Given the description of an element on the screen output the (x, y) to click on. 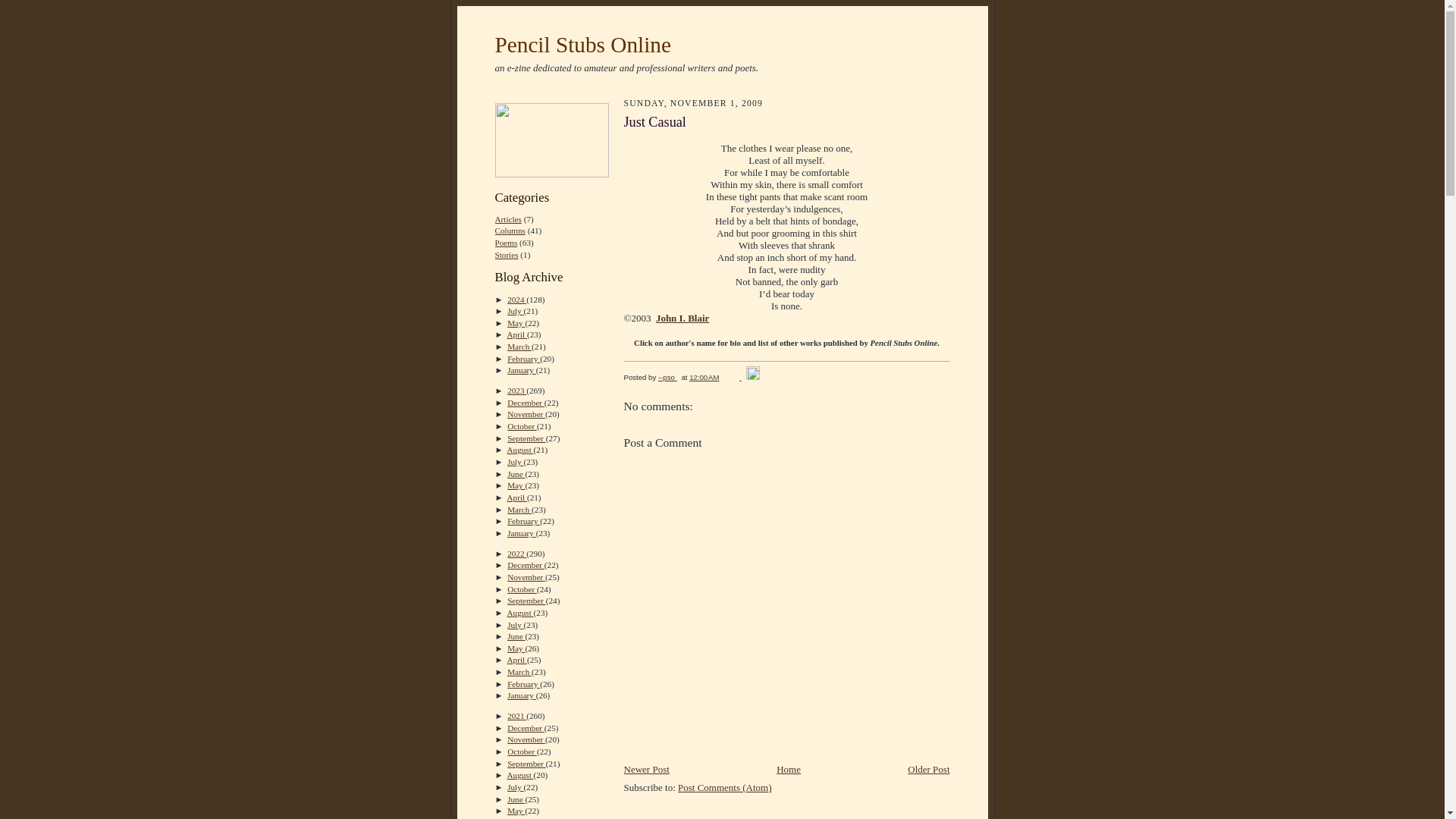
May (515, 322)
Articles (508, 218)
January (520, 369)
July (514, 461)
Email Post (733, 377)
July (514, 310)
Newer Post (645, 768)
April (516, 497)
Poems (505, 242)
November (525, 413)
August (520, 449)
December (525, 402)
Older Post (928, 768)
Stories (506, 254)
Pencil Stubs Online (582, 44)
